Given the description of an element on the screen output the (x, y) to click on. 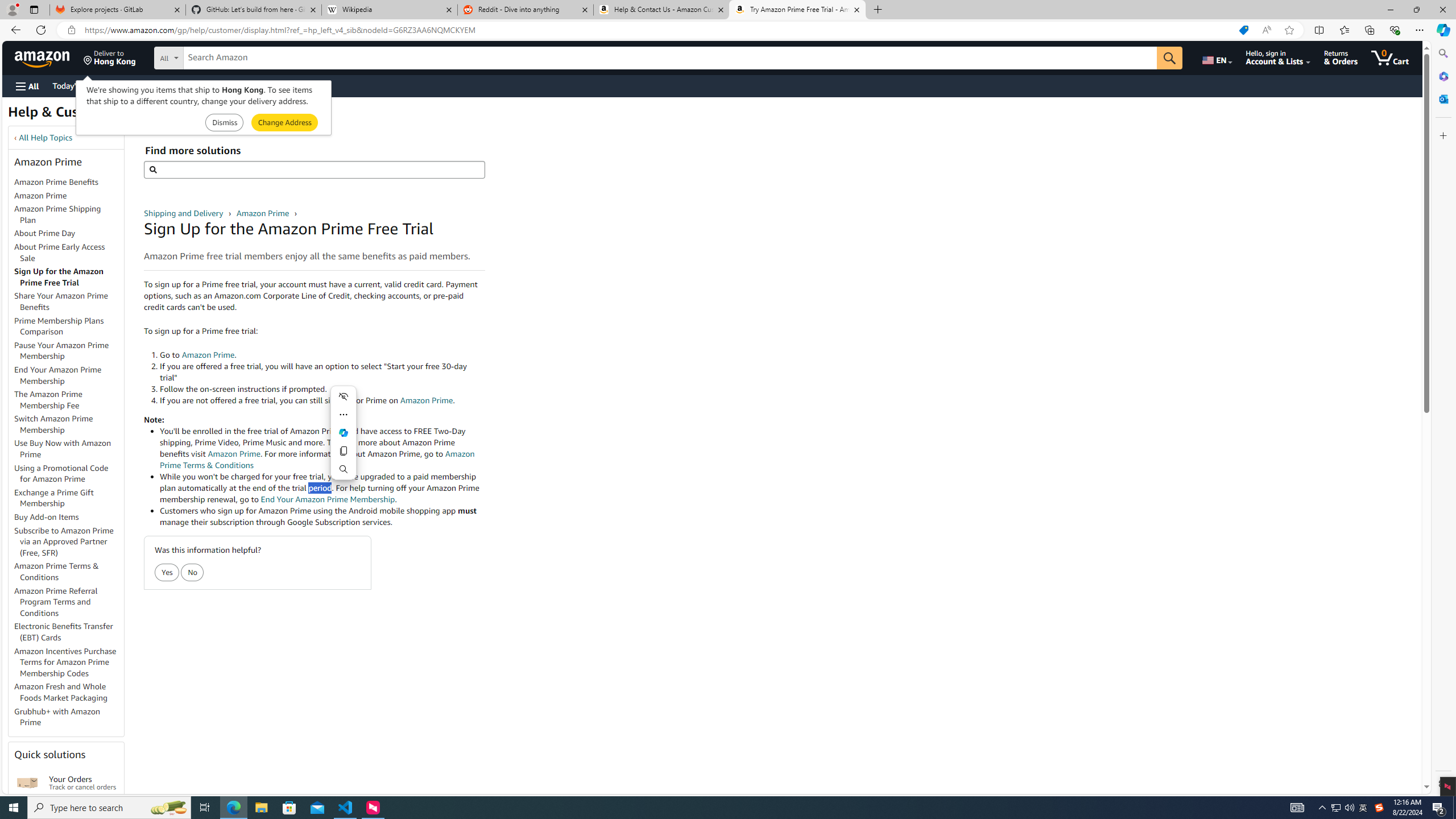
Sign Up for the Amazon Prime Free Trial (68, 277)
About Prime Day (44, 233)
Yes (167, 572)
Registry (205, 85)
Amazon Prime (40, 195)
Amazon Prime Shipping Plan (57, 214)
Exchange a Prime Gift Membership (53, 497)
Hello, sign in Account & Lists (1278, 57)
